Given the description of an element on the screen output the (x, y) to click on. 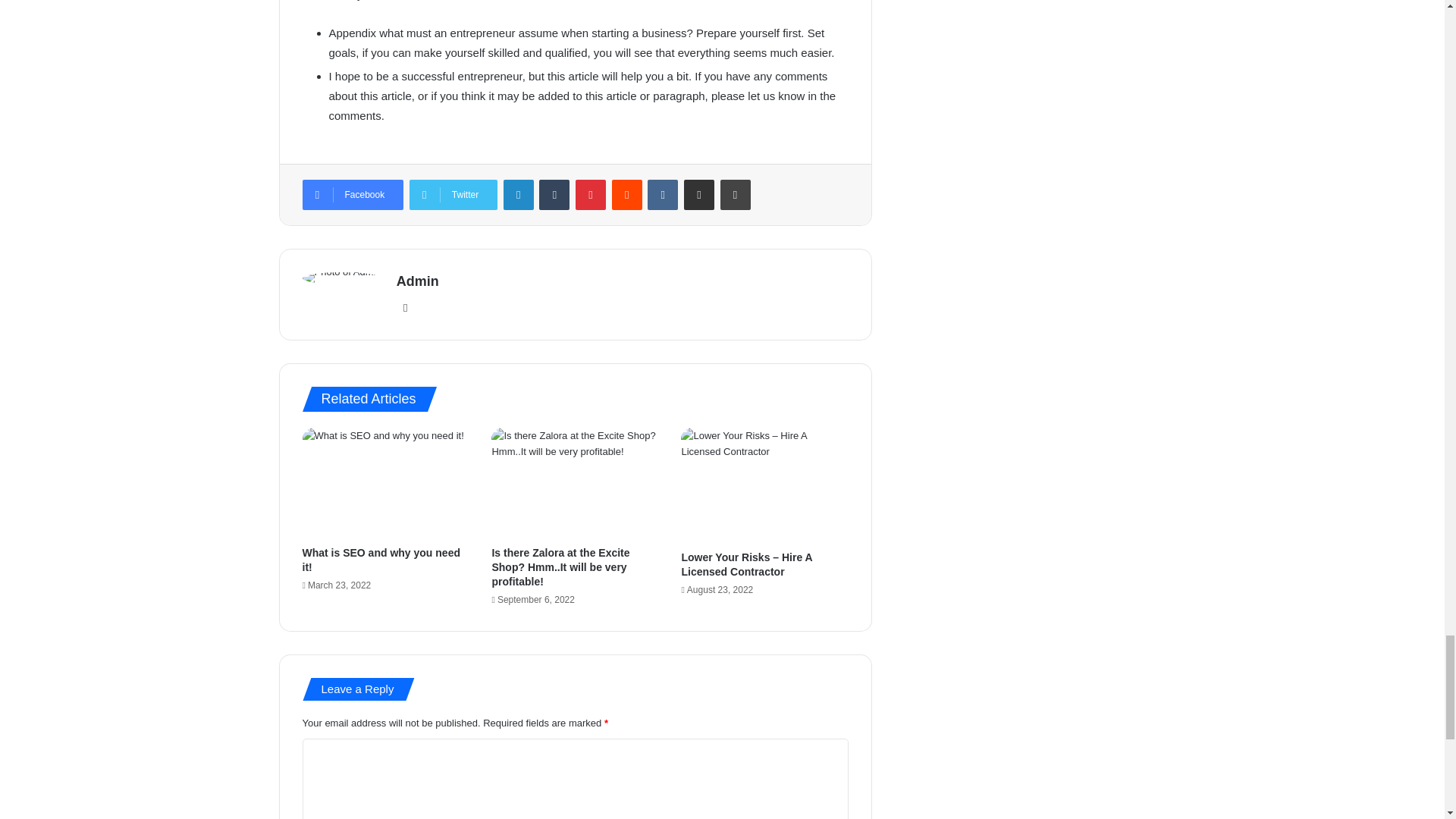
Print (735, 194)
Share via Email (699, 194)
Reddit (626, 194)
Twitter (453, 194)
Facebook (352, 194)
Share via Email (699, 194)
Website (405, 307)
Facebook (352, 194)
VKontakte (662, 194)
